Given the description of an element on the screen output the (x, y) to click on. 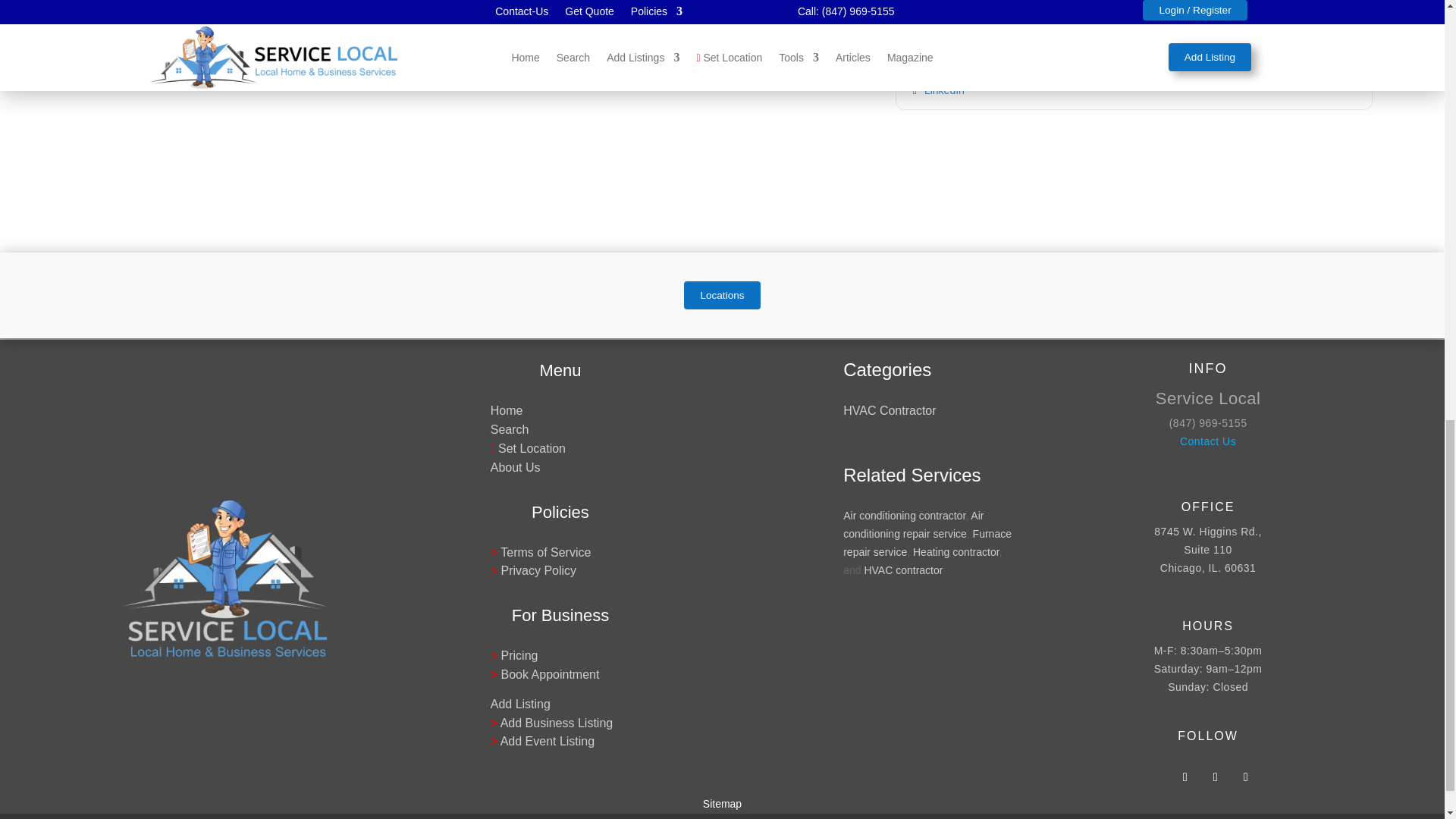
Follow on X (1215, 776)
Follow on Youtube (1245, 776)
Footer Logo (225, 577)
Follow on Facebook (1184, 776)
